Given the description of an element on the screen output the (x, y) to click on. 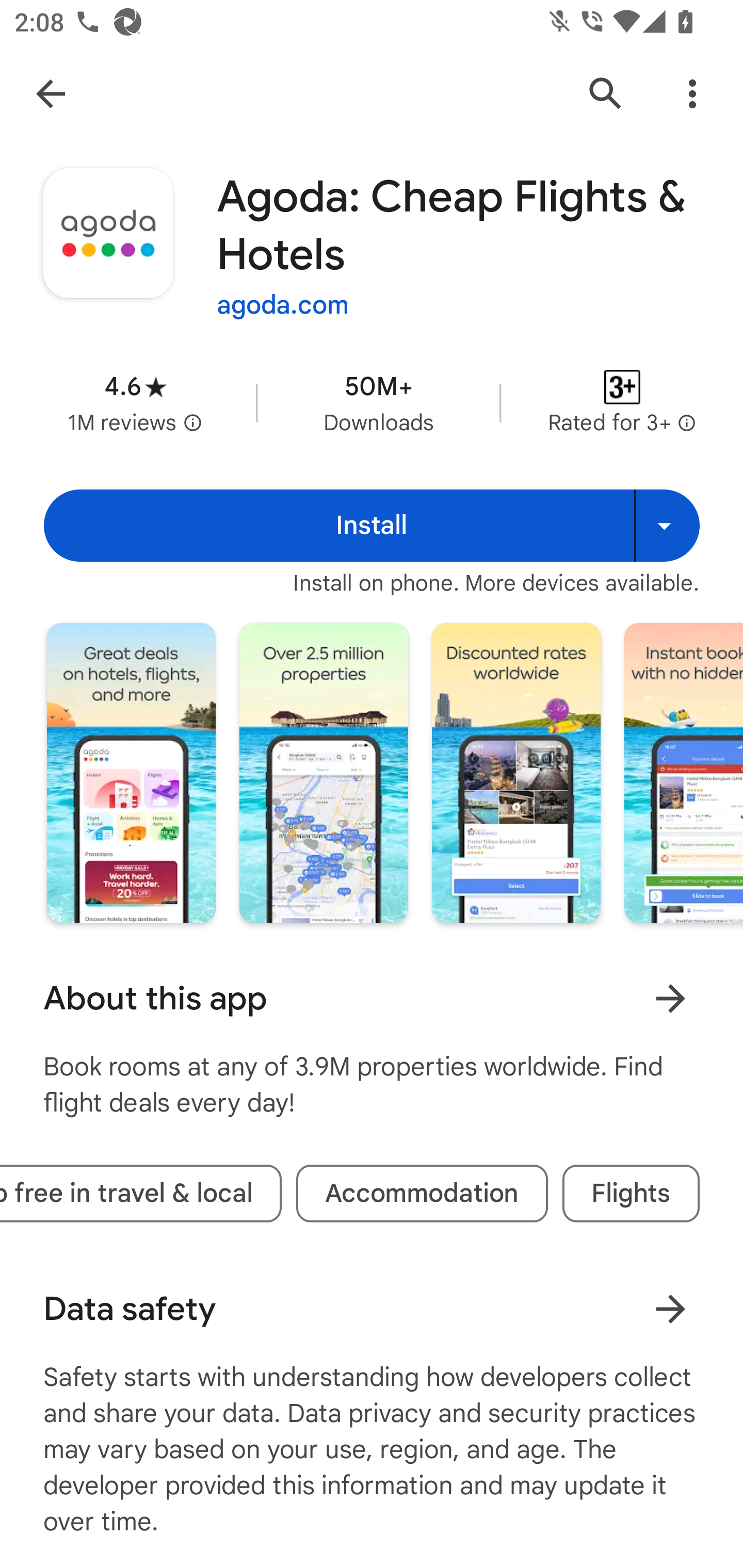
Navigate up (50, 93)
Search Google Play (605, 93)
More Options (692, 93)
agoda.com (282, 304)
Average rating 4.6 stars in 1 million reviews (135, 402)
Content rating Rated for 3+ (622, 402)
Install Install Install on more devices (371, 525)
Install on more devices (667, 525)
Screenshot "1" of "8" (130, 771)
Screenshot "2" of "8" (323, 771)
Screenshot "3" of "8" (515, 771)
Screenshot "4" of "8" (683, 771)
About this app Learn more About this app (371, 998)
Learn more About this app (670, 997)
#6 top free in travel & local tag (140, 1193)
Accommodation tag (422, 1193)
Flights tag (630, 1193)
Data safety Learn more about data safety (371, 1309)
Learn more about data safety (670, 1308)
